Given the description of an element on the screen output the (x, y) to click on. 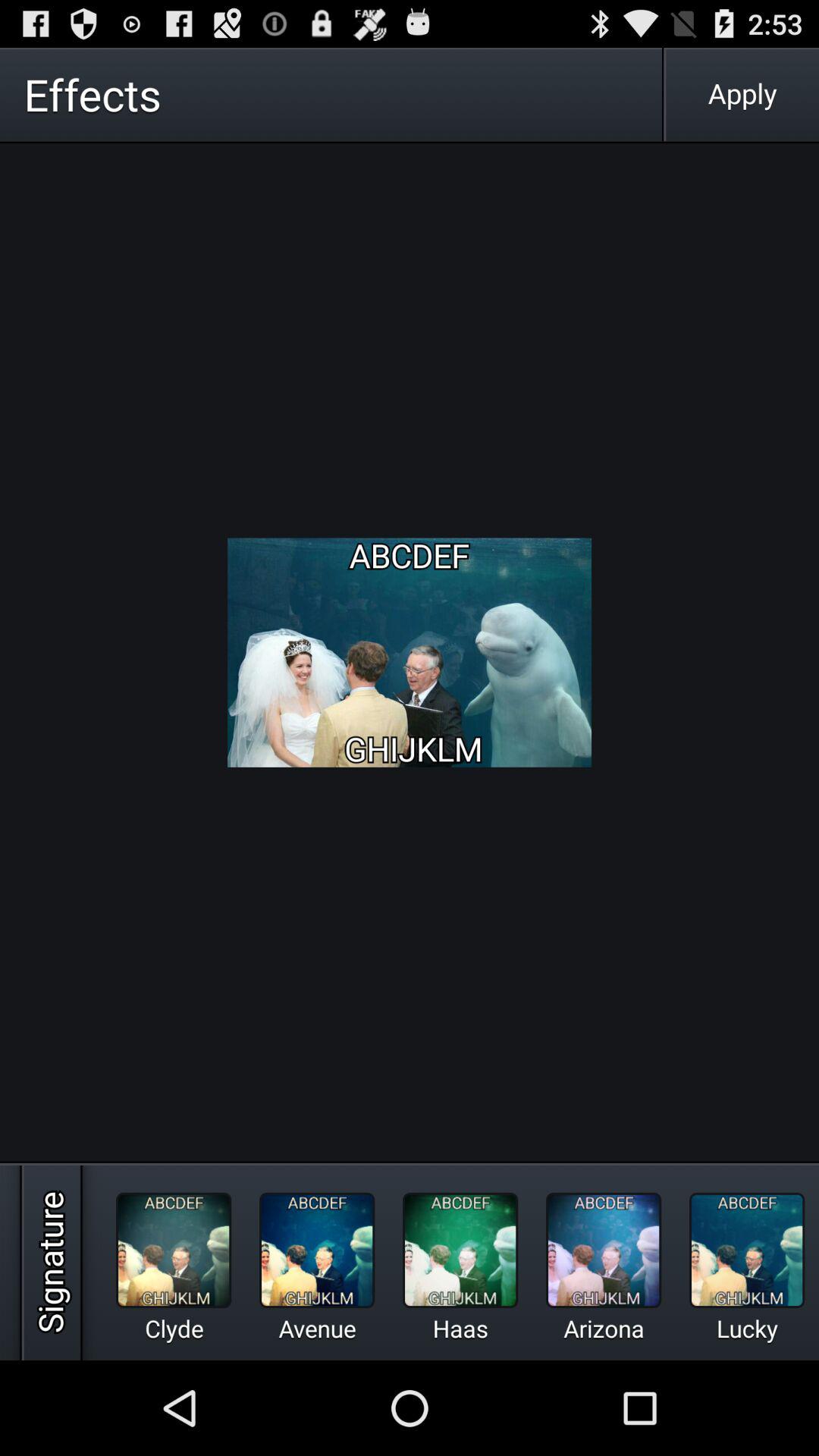
turn on the apply item (742, 93)
